Given the description of an element on the screen output the (x, y) to click on. 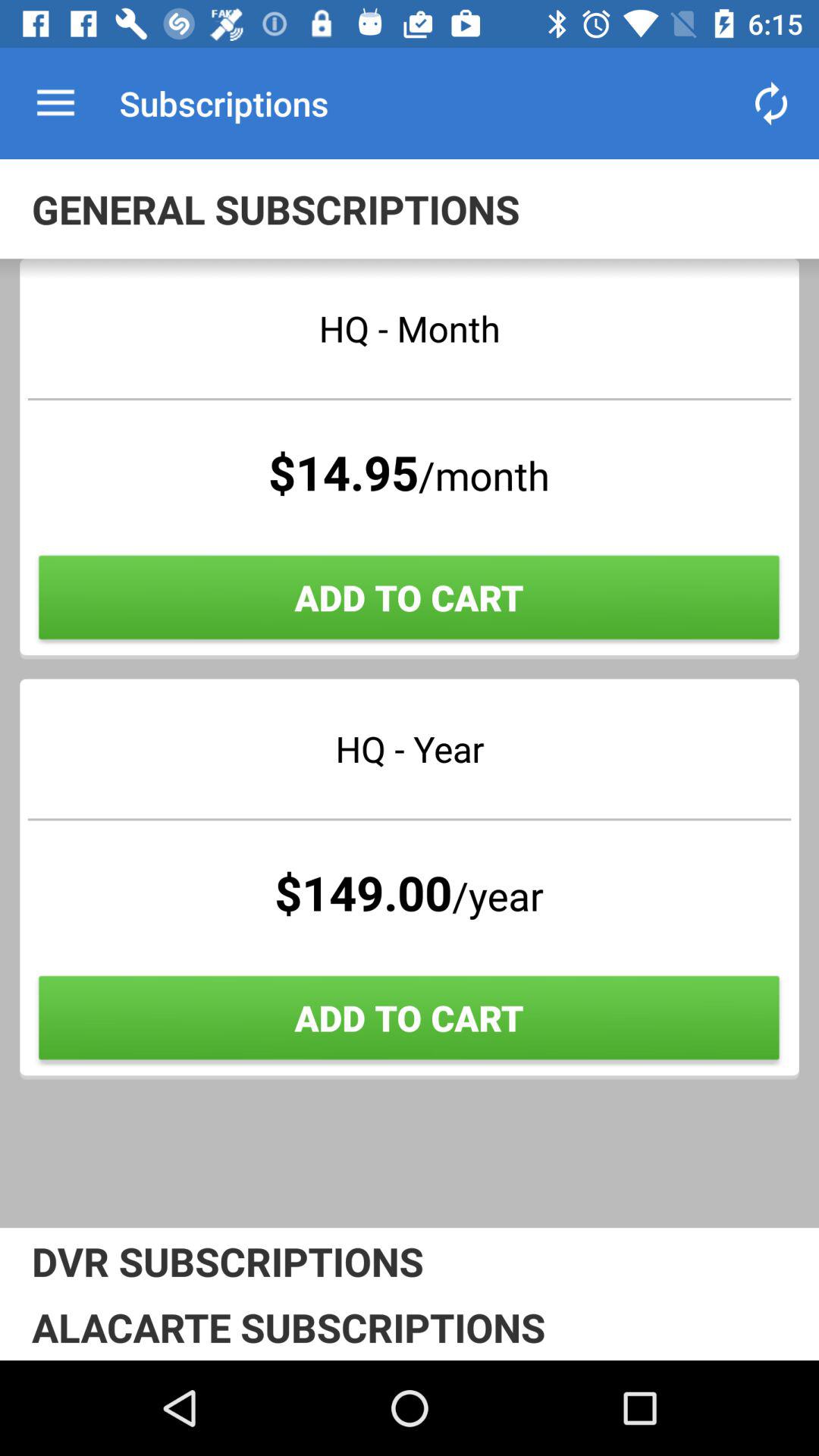
launch the icon at the top right corner (771, 103)
